Given the description of an element on the screen output the (x, y) to click on. 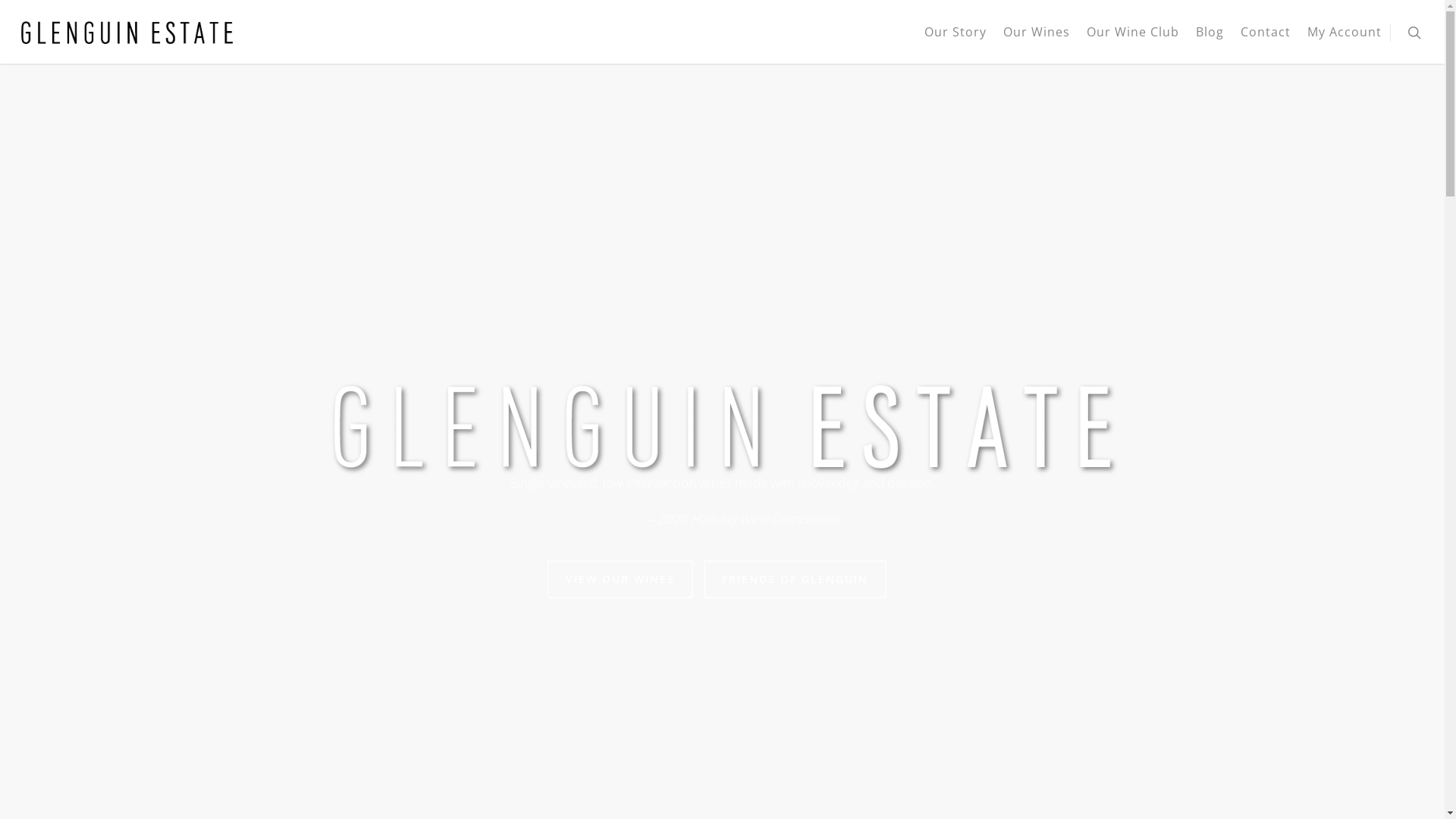
Contact Element type: text (1265, 42)
Our Wine Club Element type: text (1132, 42)
My Account Element type: text (1344, 42)
FRIENDS OF GLENGUIN Element type: text (794, 579)
VIEW OUR WINES Element type: text (620, 579)
Blog Element type: text (1209, 42)
Our Wines Element type: text (1036, 42)
Our Story Element type: text (955, 42)
